Given the description of an element on the screen output the (x, y) to click on. 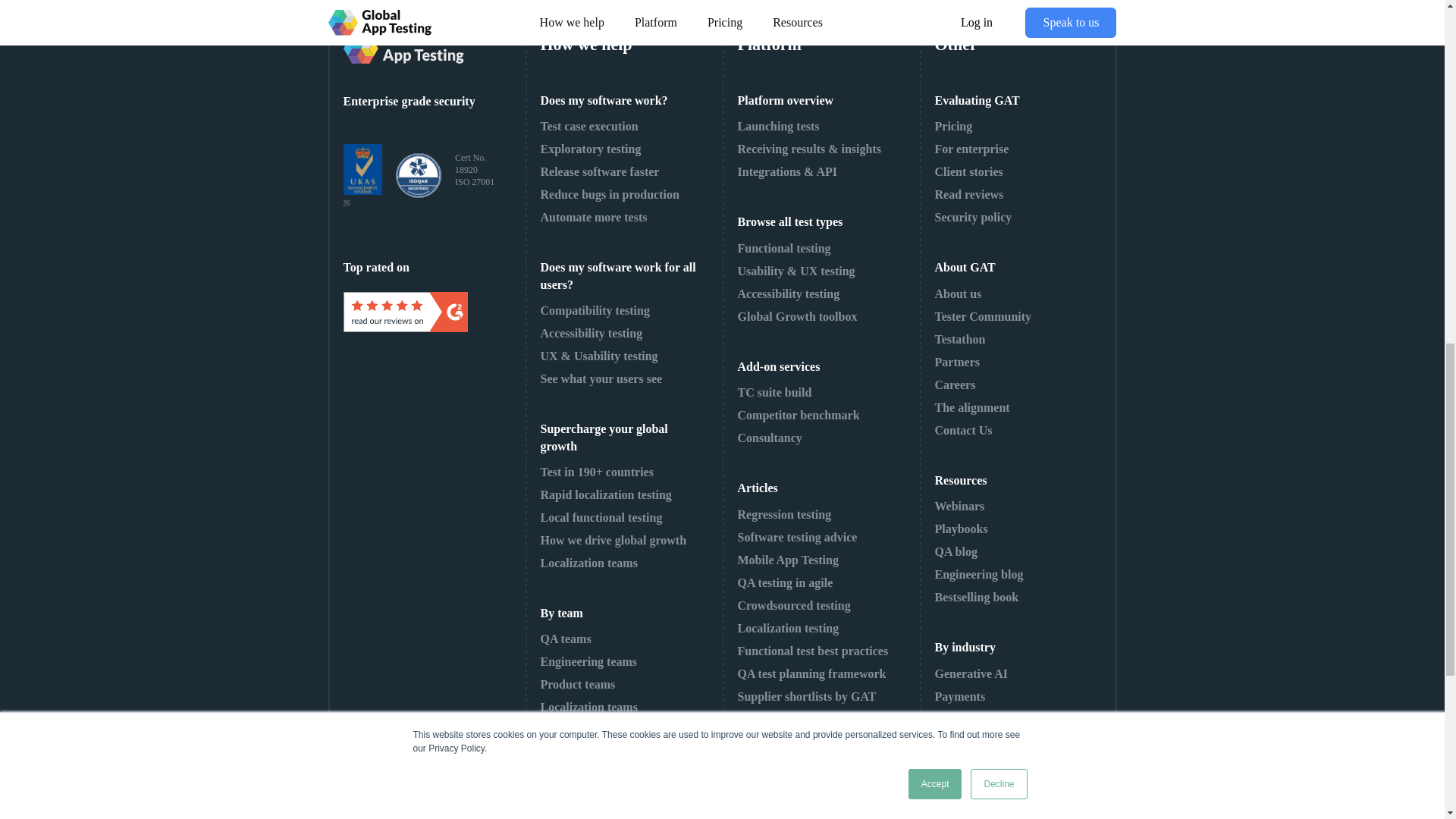
logo-footer (402, 48)
